Given the description of an element on the screen output the (x, y) to click on. 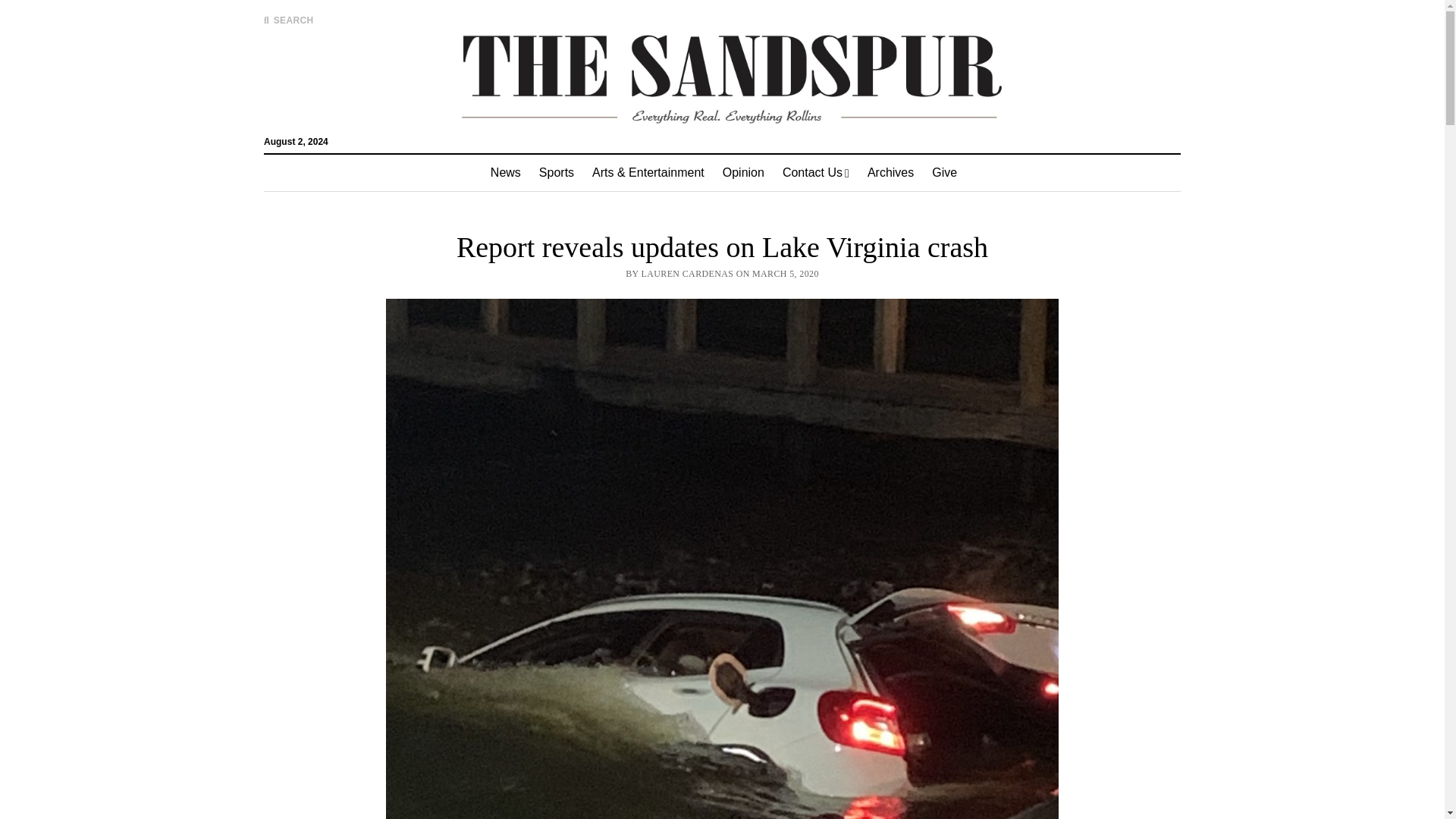
Opinion (743, 172)
Search (945, 129)
SEARCH (288, 20)
Give (944, 172)
News (505, 172)
Archives (891, 172)
Sports (556, 172)
Contact Us (816, 172)
